Given the description of an element on the screen output the (x, y) to click on. 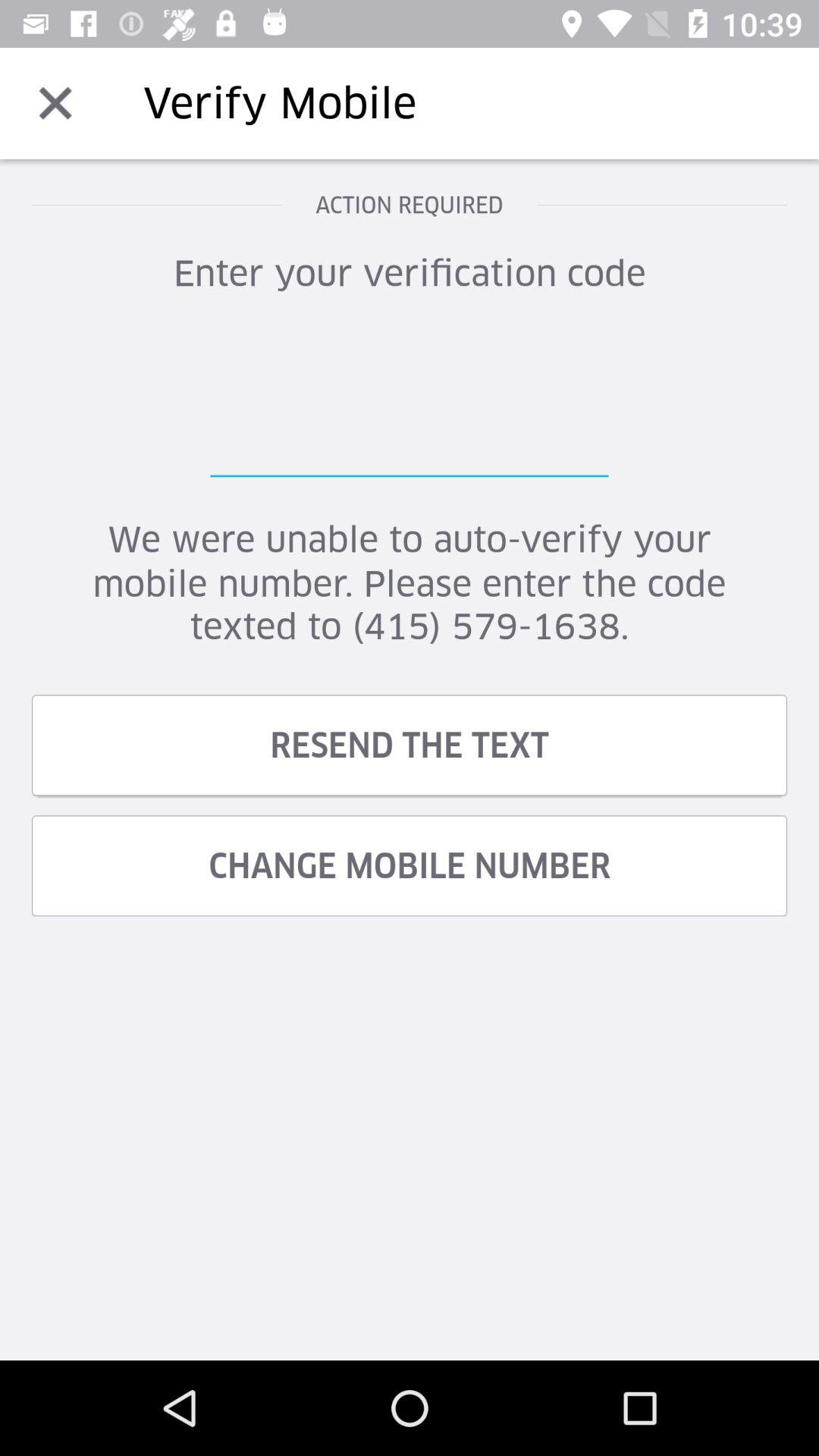
choose icon above the we were unable item (409, 401)
